Given the description of an element on the screen output the (x, y) to click on. 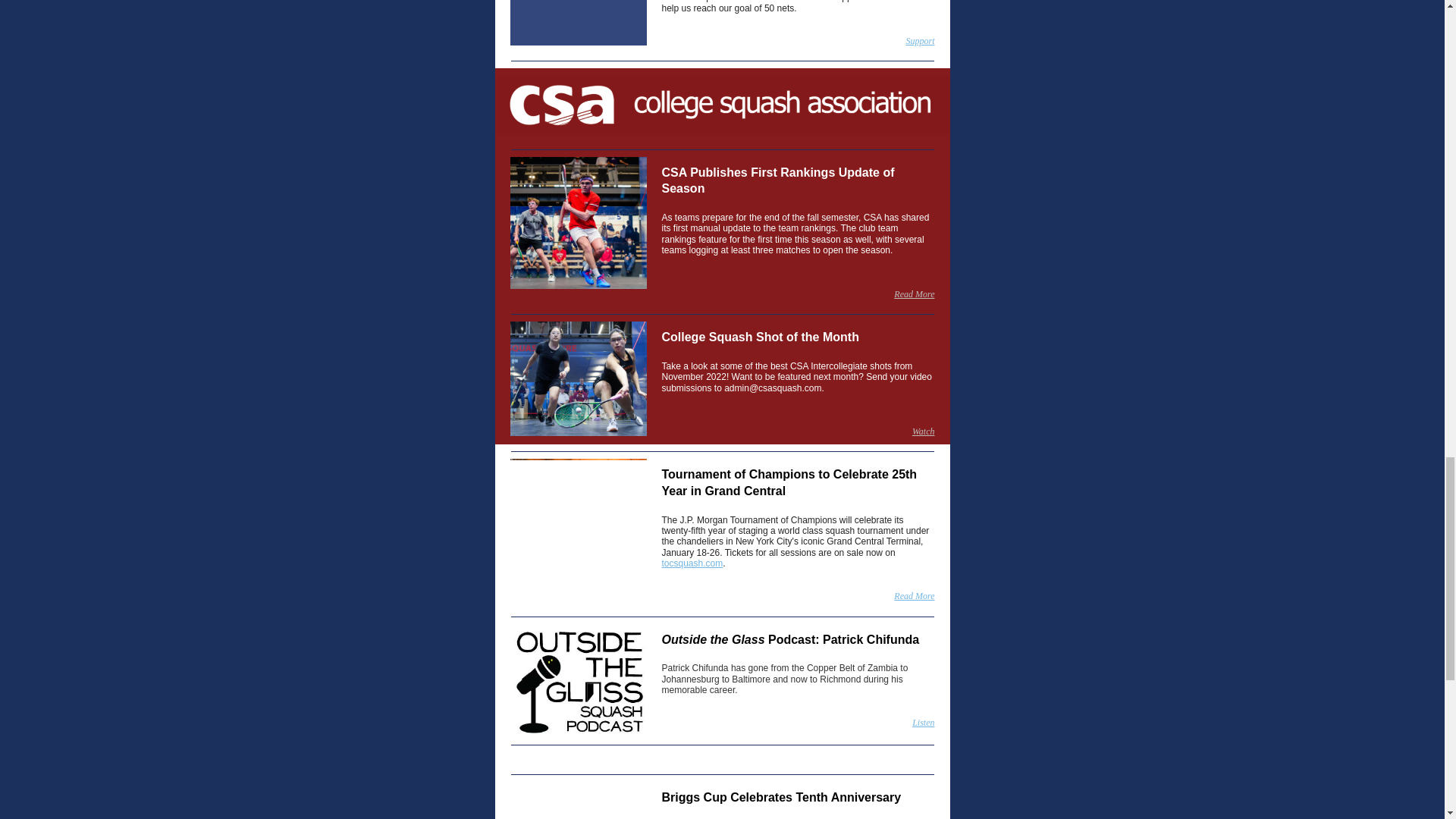
Podcast: Patrick Chifunda (842, 639)
Listen (923, 722)
Outside the Glass (712, 639)
Read More (913, 595)
Read More (913, 294)
Watch (923, 430)
CSA Publishes First Rankings Update of Season (777, 180)
Briggs Cup Celebrates Tenth Anniversary (781, 797)
Support (919, 40)
